Given the description of an element on the screen output the (x, y) to click on. 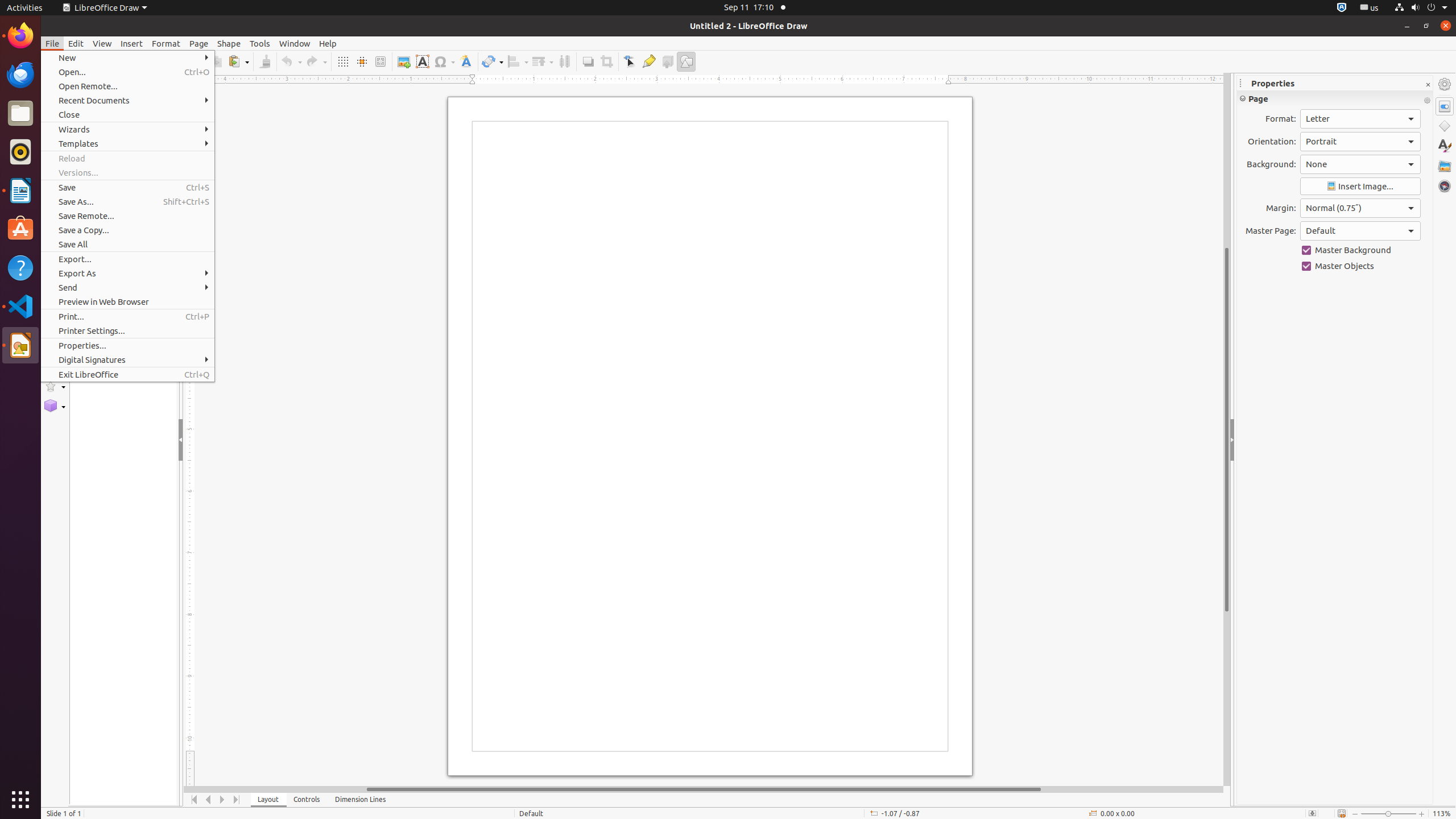
Master Objects Element type: check-box (1360, 265)
File Element type: menu (51, 43)
Master Background Element type: check-box (1360, 249)
Edit Element type: menu (75, 43)
Shapes Element type: radio-button (1444, 126)
